Given the description of an element on the screen output the (x, y) to click on. 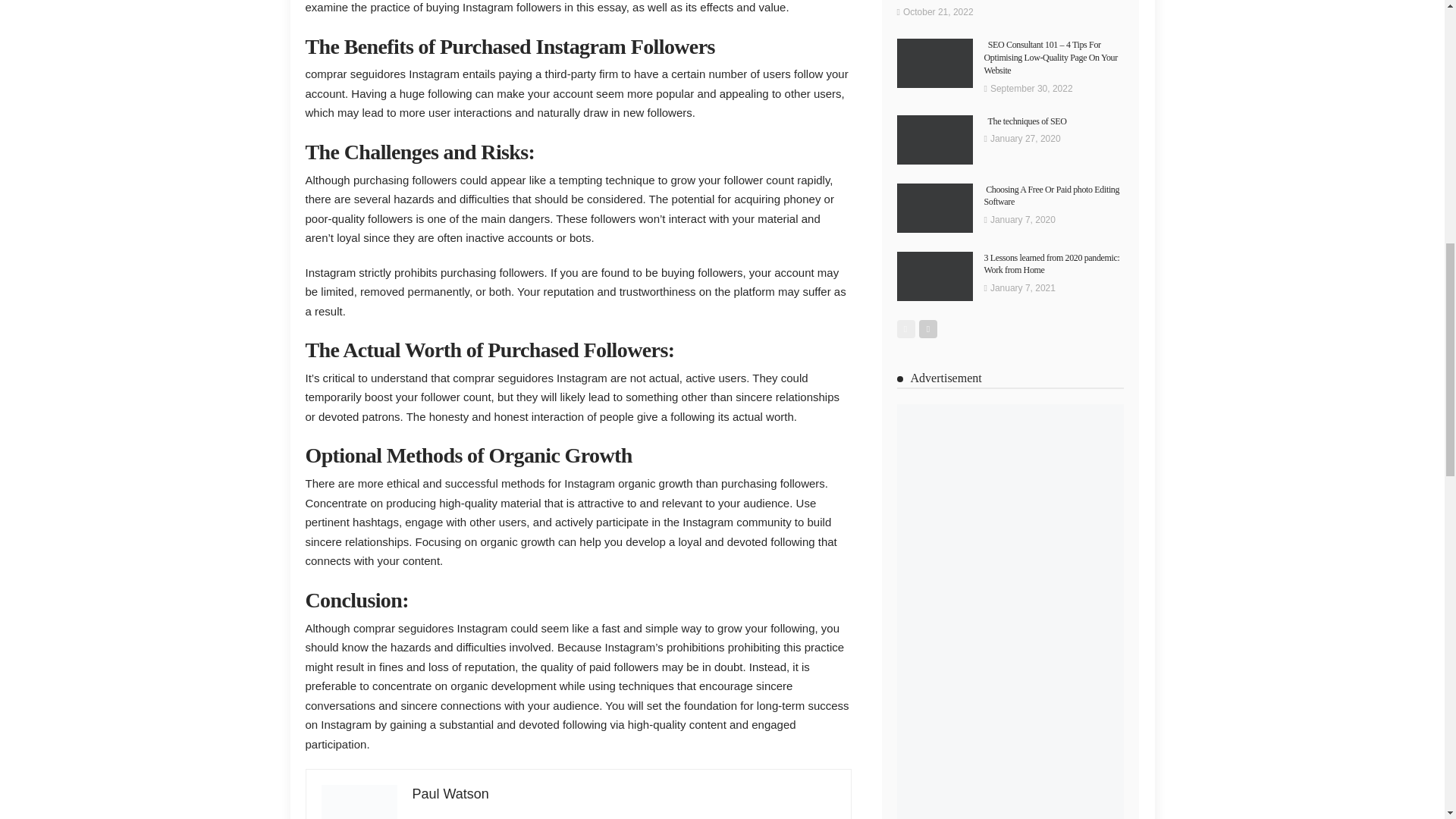
3 Lessons learned from 2020 pandemic: Work from Home (1051, 264)
3 Lessons learned from 2020 pandemic: Work from Home (934, 276)
